Given the description of an element on the screen output the (x, y) to click on. 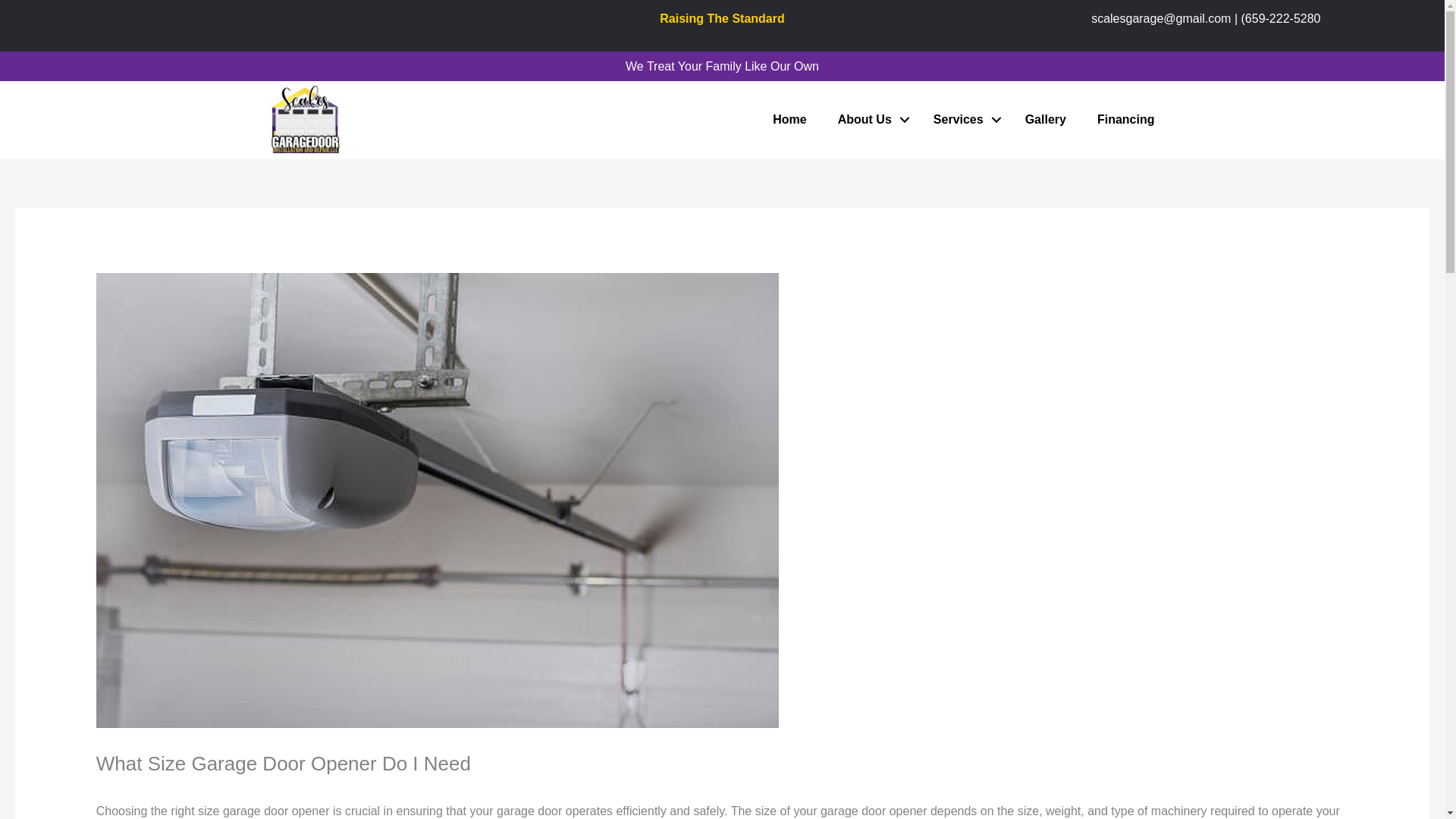
logo (351, 119)
Home (789, 119)
About Us (869, 119)
Gallery (1045, 119)
Services (963, 119)
Financing (1125, 119)
